Given the description of an element on the screen output the (x, y) to click on. 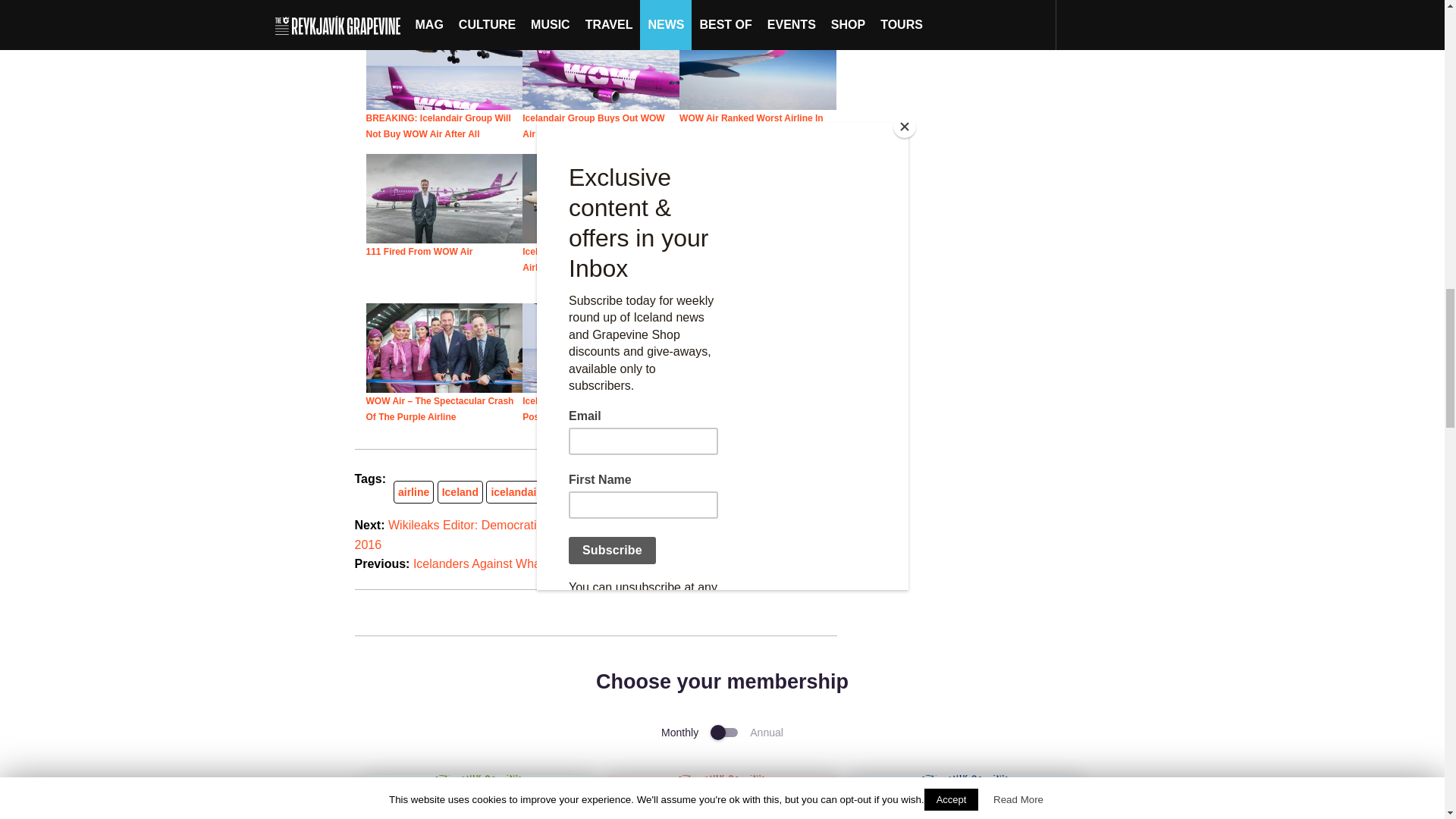
BREAKING: Icelandair Group Will Not Buy WOW Air After All (438, 126)
Icelandic Bank Loses Millions in Airline Bankruptcy (600, 198)
111 Fired From WOW Air (418, 251)
Icelandair Group Buys Out WOW Air (592, 126)
BREAKING: Icelandair Group Will Not Buy WOW Air After All (443, 64)
111 Fired From WOW Air (443, 198)
Icelandic Bank Loses Millions in Airline Bankruptcy (592, 259)
Icelandair Group Buys Out WOW Air (600, 64)
111 Fired From WOW Air (418, 251)
Icelandic Bank Loses Millions in Airline Bankruptcy (592, 259)
